Given the description of an element on the screen output the (x, y) to click on. 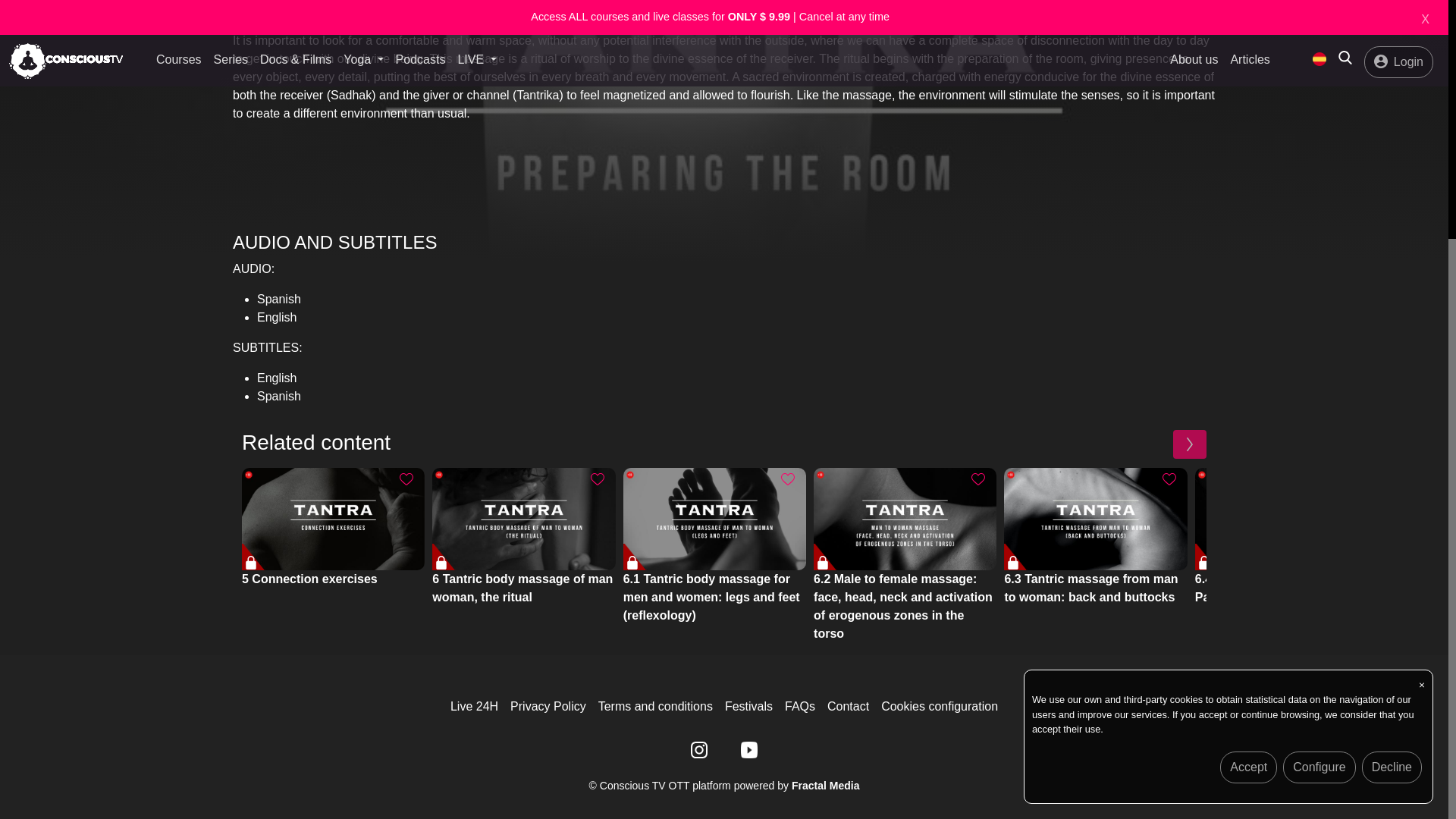
Terms and conditions (655, 706)
6.4 Yoni Massage for Women - Part One (1286, 518)
6.3 Tantric massage from man to woman: back and buttocks (1095, 518)
Add to favorites (787, 479)
Add to favorites (405, 479)
6 Tantric body massage of man woman, the ritual (523, 518)
Add to favorites (597, 479)
Festivals (748, 706)
Add to favorites (978, 479)
Live 24H (473, 706)
Add to favorites (1168, 479)
Privacy Policy (547, 706)
5 Connection exercises (333, 518)
FAQs (799, 706)
